Given the description of an element on the screen output the (x, y) to click on. 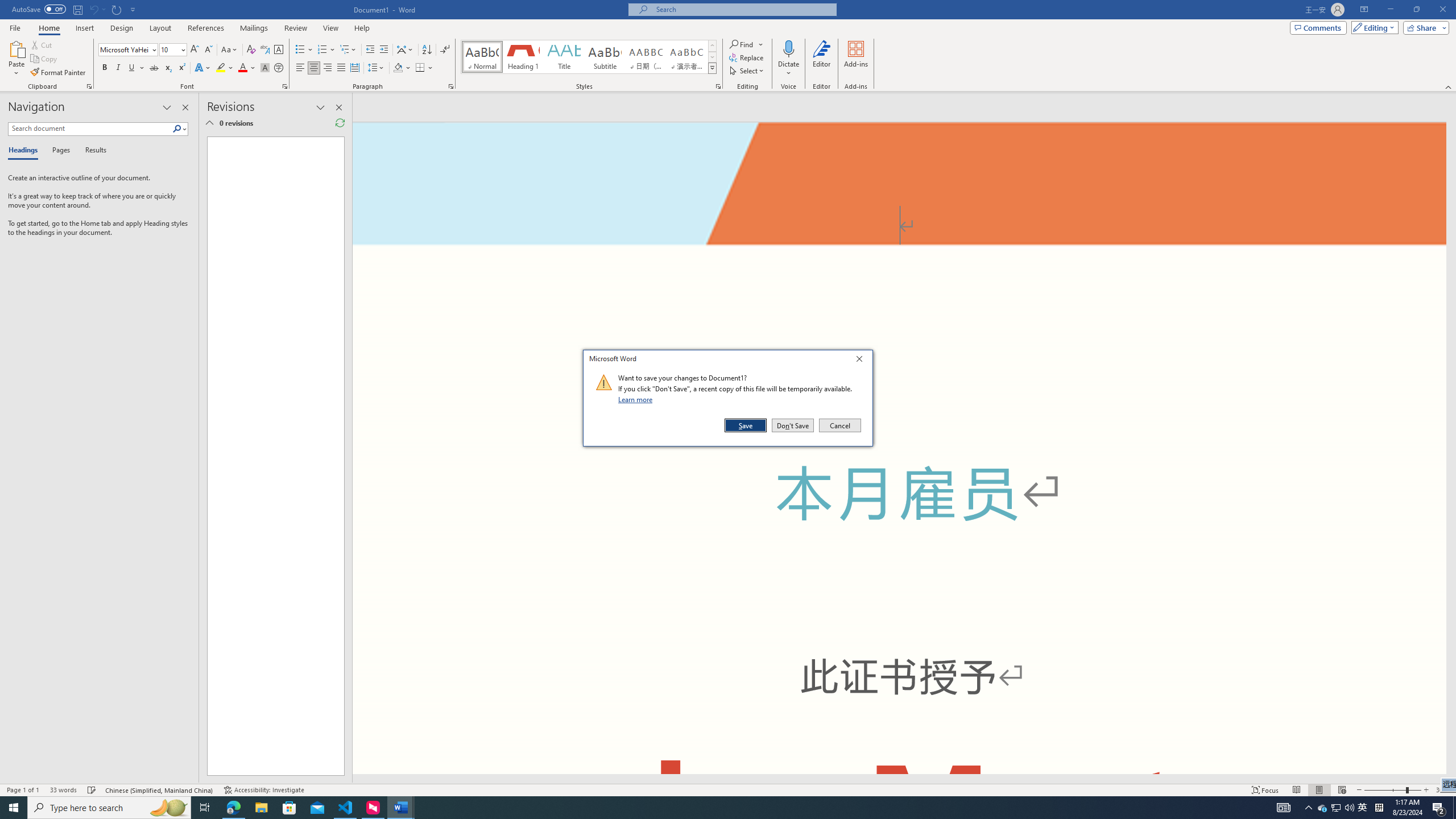
Refresh Reviewing Pane (339, 122)
Microsoft Edge - 1 running window (233, 807)
